Given the description of an element on the screen output the (x, y) to click on. 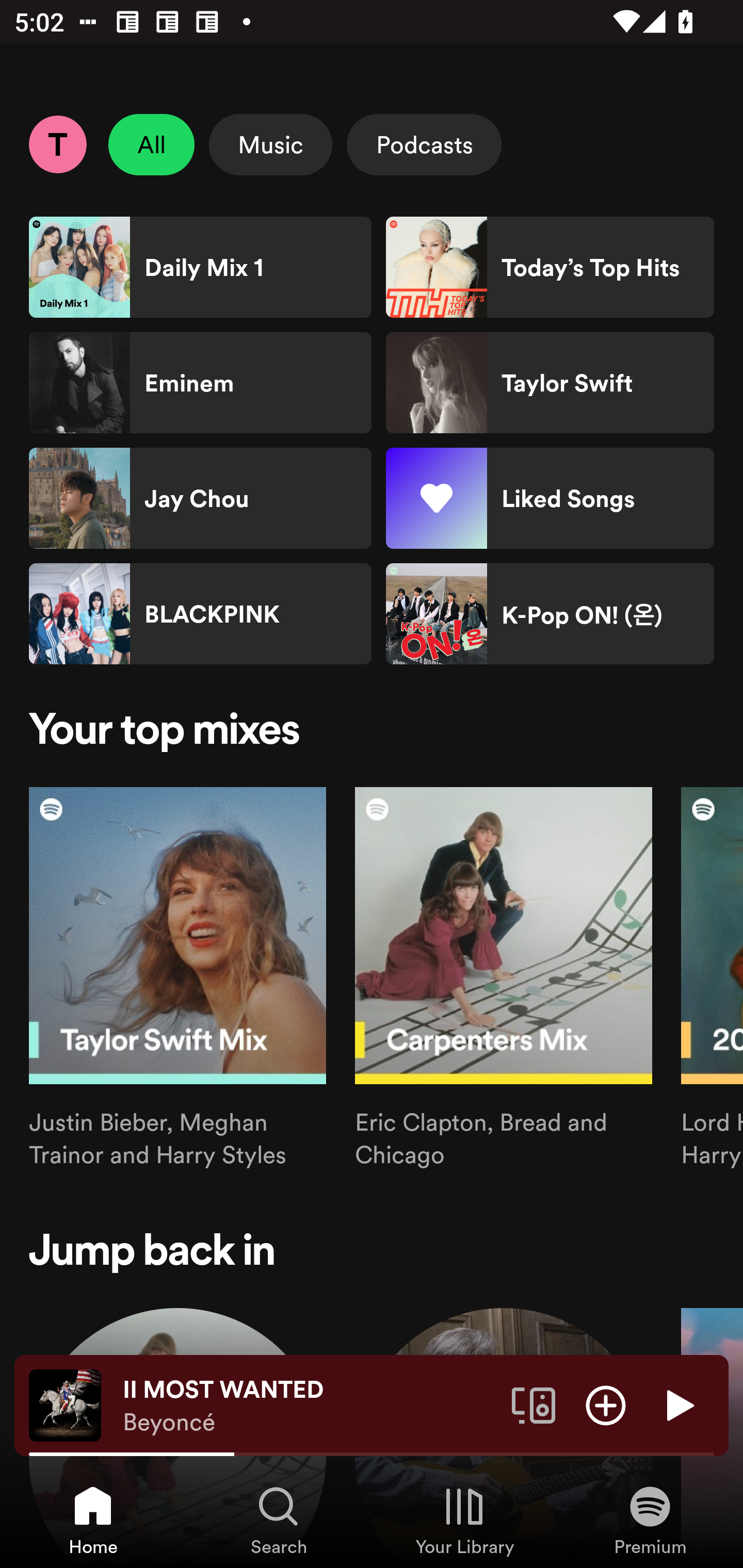
Profile (57, 144)
All Unselect All (151, 144)
Music Select Music (270, 144)
Podcasts Select Podcasts (423, 144)
Daily Mix 1 Shortcut Daily Mix 1 (199, 267)
Today’s Top Hits Shortcut Today’s Top Hits (549, 267)
Eminem Shortcut Eminem (199, 382)
Taylor Swift Shortcut Taylor Swift (549, 382)
Jay Chou Shortcut Jay Chou (199, 498)
Liked Songs Shortcut Liked Songs (549, 498)
BLACKPINK Shortcut BLACKPINK (199, 613)
K-Pop ON! (온) Shortcut K-Pop ON! (온) (549, 613)
II MOST WANTED Beyoncé (309, 1405)
The cover art of the currently playing track (64, 1404)
Connect to a device. Opens the devices menu (533, 1404)
Add item (605, 1404)
Play (677, 1404)
Home, Tab 1 of 4 Home Home (92, 1519)
Search, Tab 2 of 4 Search Search (278, 1519)
Your Library, Tab 3 of 4 Your Library Your Library (464, 1519)
Premium, Tab 4 of 4 Premium Premium (650, 1519)
